Given the description of an element on the screen output the (x, y) to click on. 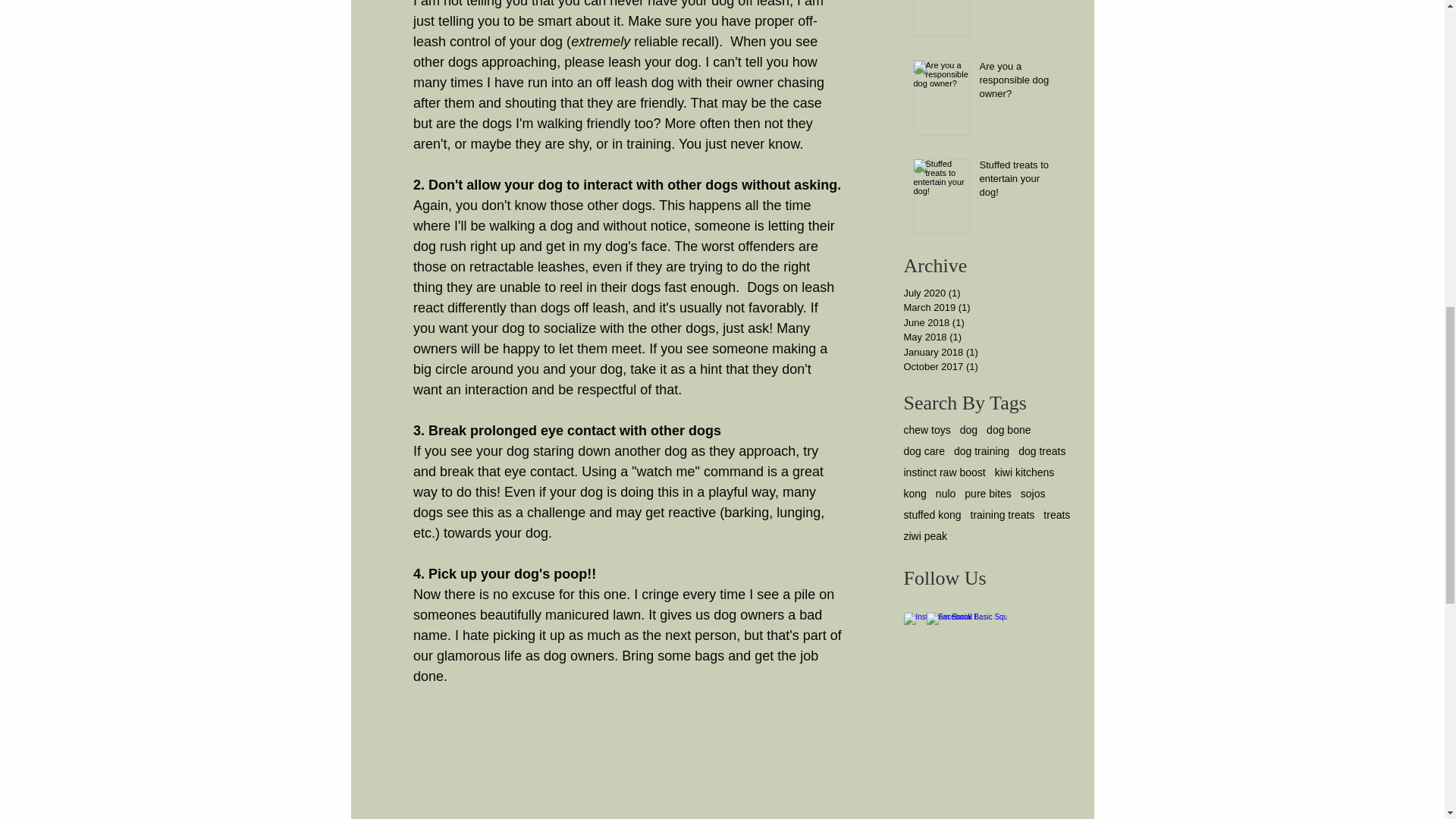
nulo (945, 493)
kiwi kitchens (1024, 472)
stuffed kong (932, 514)
pure bites (986, 493)
dog (967, 429)
chew toys (927, 429)
dog bone (1008, 429)
dog care (924, 451)
Stuffed treats to entertain your dog! (1020, 182)
dog training (981, 451)
